Given the description of an element on the screen output the (x, y) to click on. 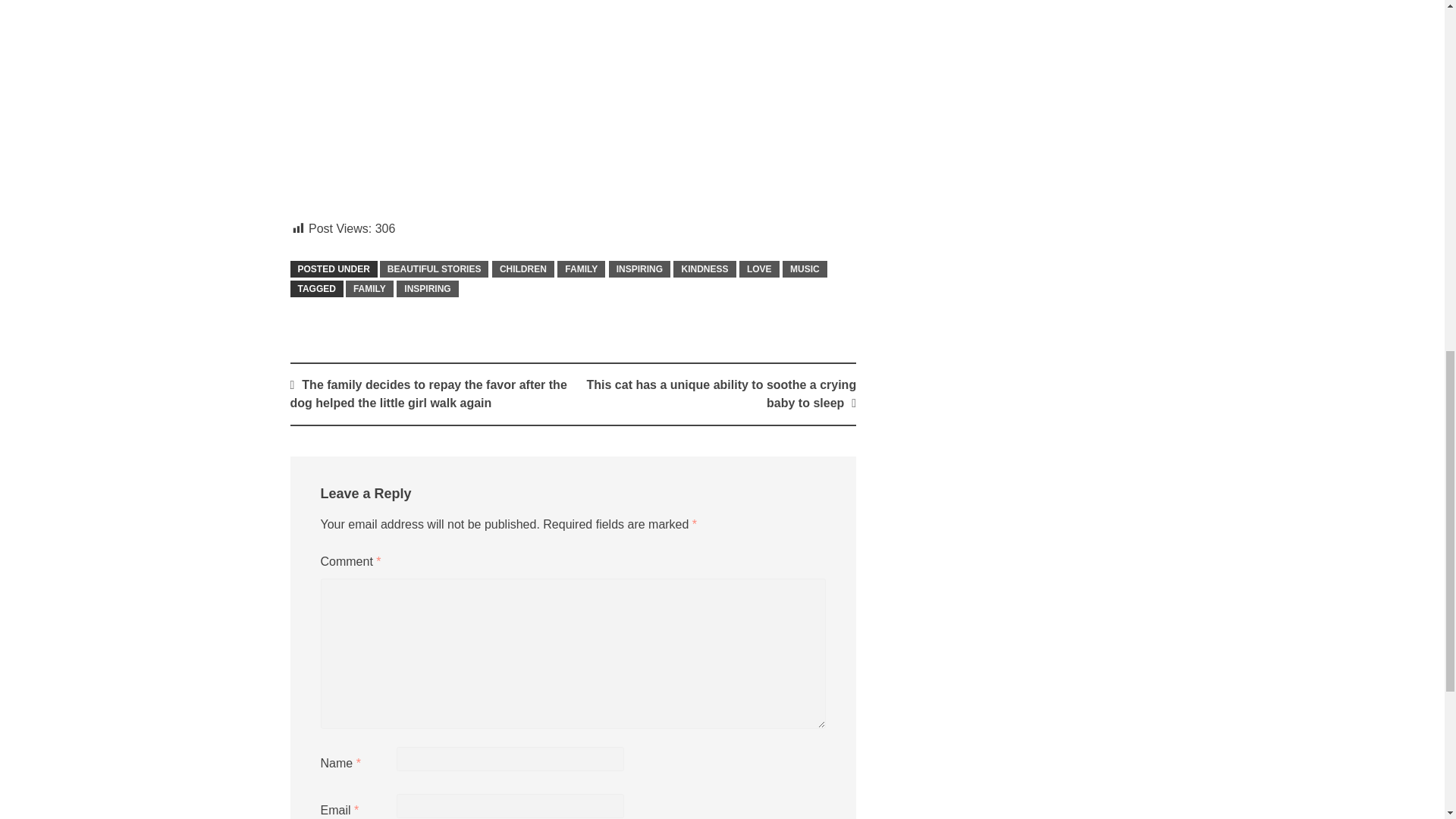
MUSIC (805, 269)
BEAUTIFUL STORIES (434, 269)
LOVE (758, 269)
YouTube video player (501, 98)
INSPIRING (427, 288)
INSPIRING (638, 269)
FAMILY (369, 288)
CHILDREN (523, 269)
